Given the description of an element on the screen output the (x, y) to click on. 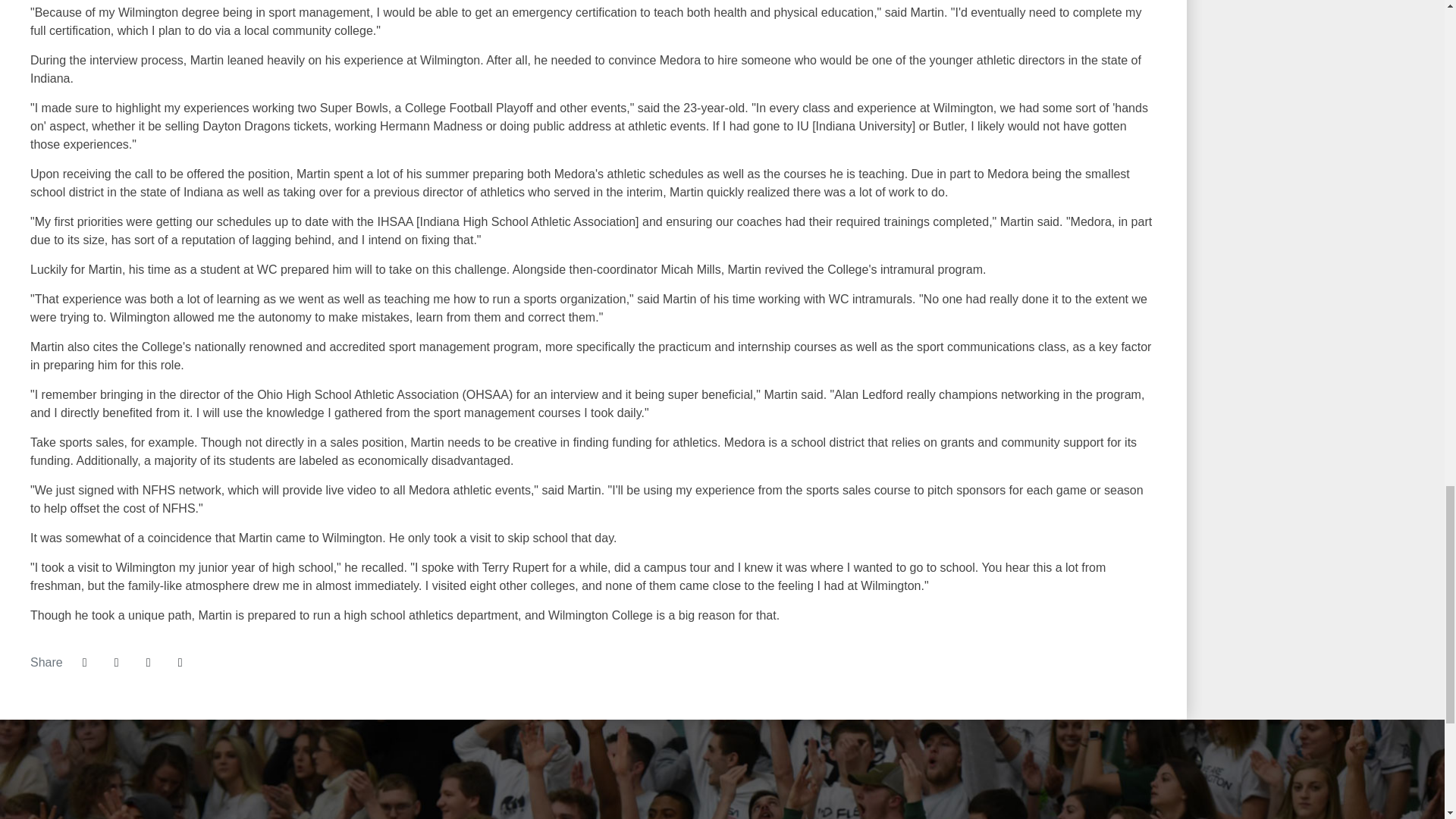
Print (180, 662)
